Given the description of an element on the screen output the (x, y) to click on. 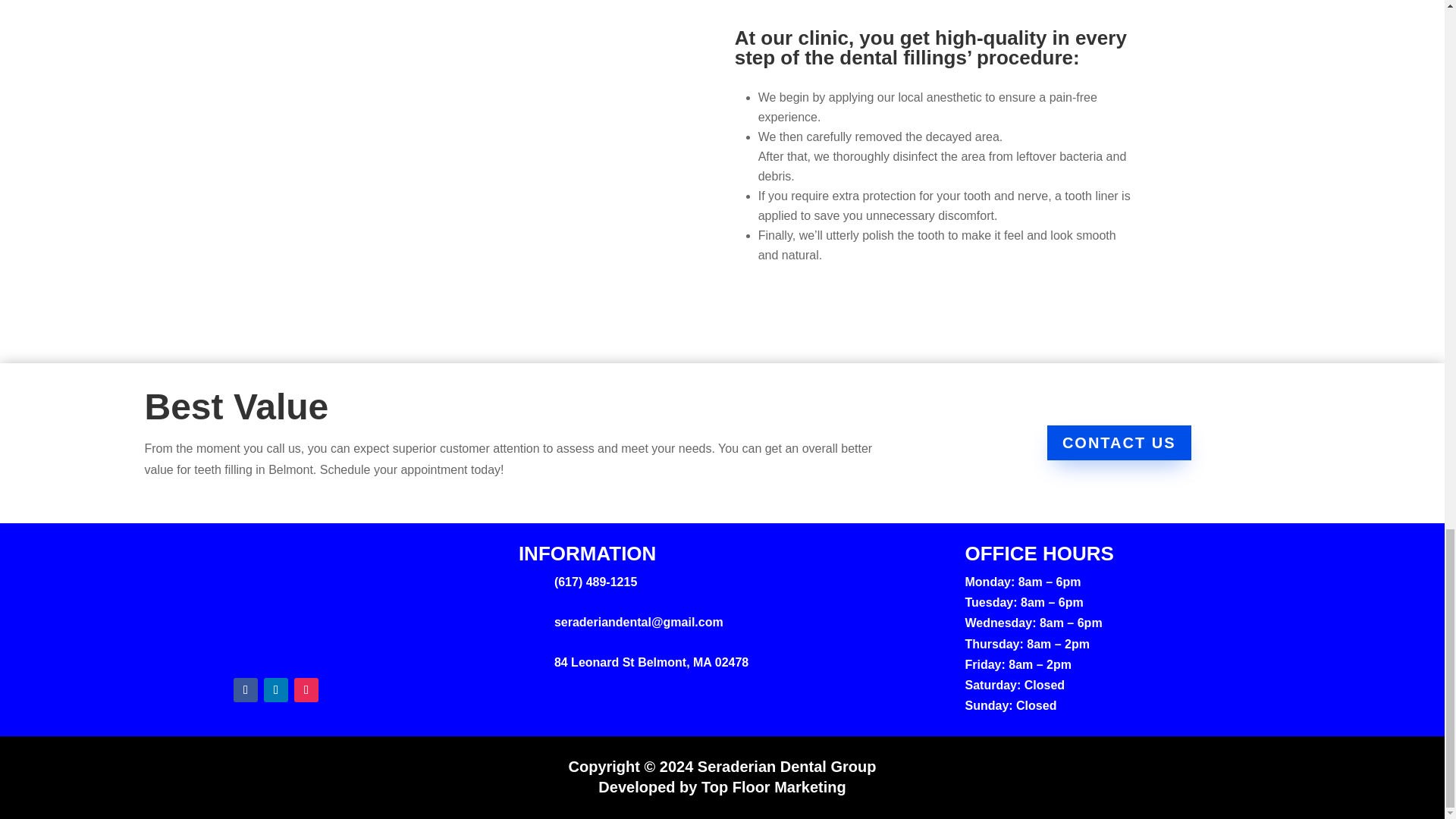
seraderian logo (276, 601)
Follow on Instagram (306, 689)
Follow on LinkedIn (275, 689)
Dental Fillings procedure (511, 153)
Follow on Facebook (244, 689)
